Given the description of an element on the screen output the (x, y) to click on. 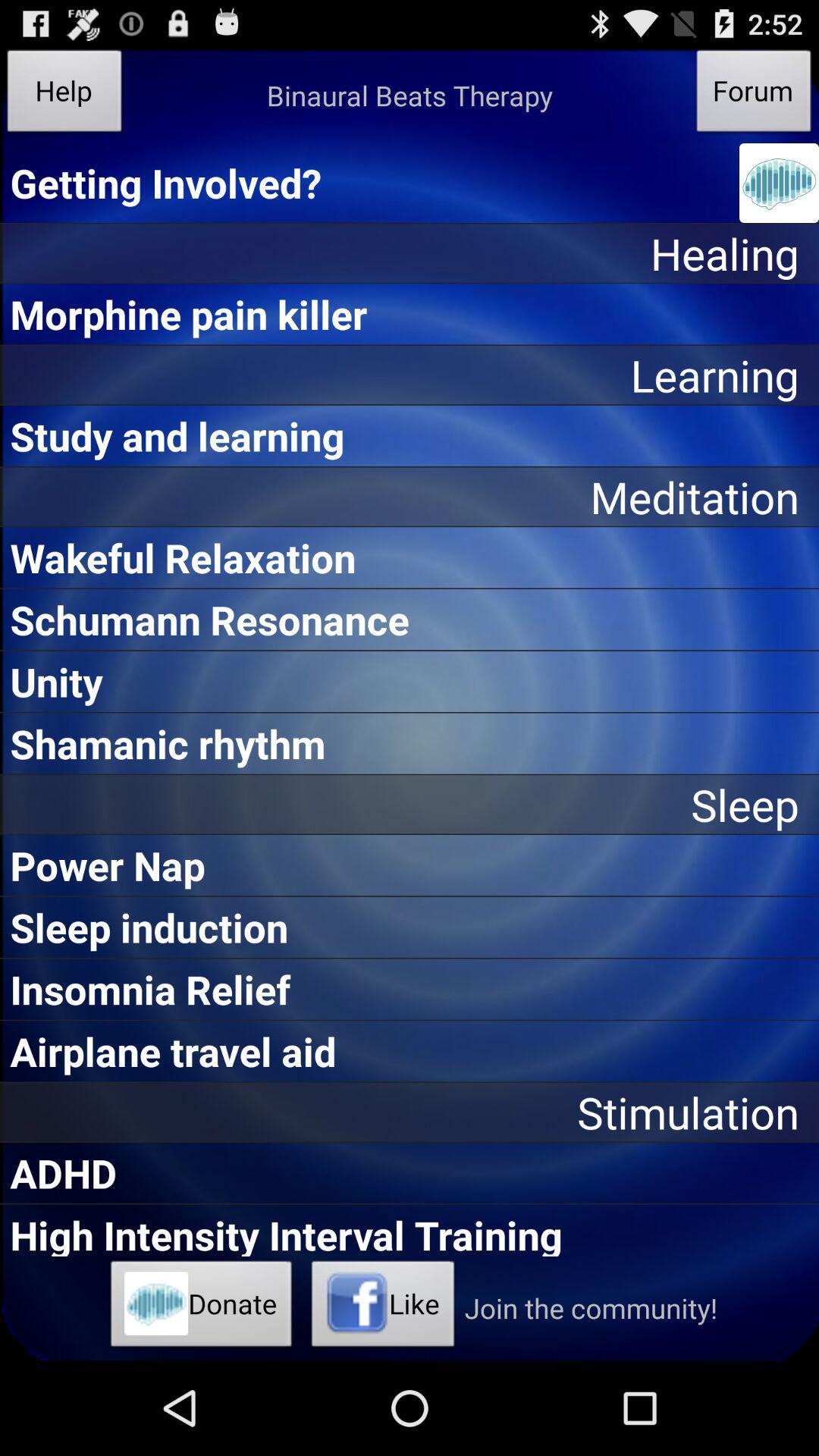
swipe to the help item (64, 95)
